Given the description of an element on the screen output the (x, y) to click on. 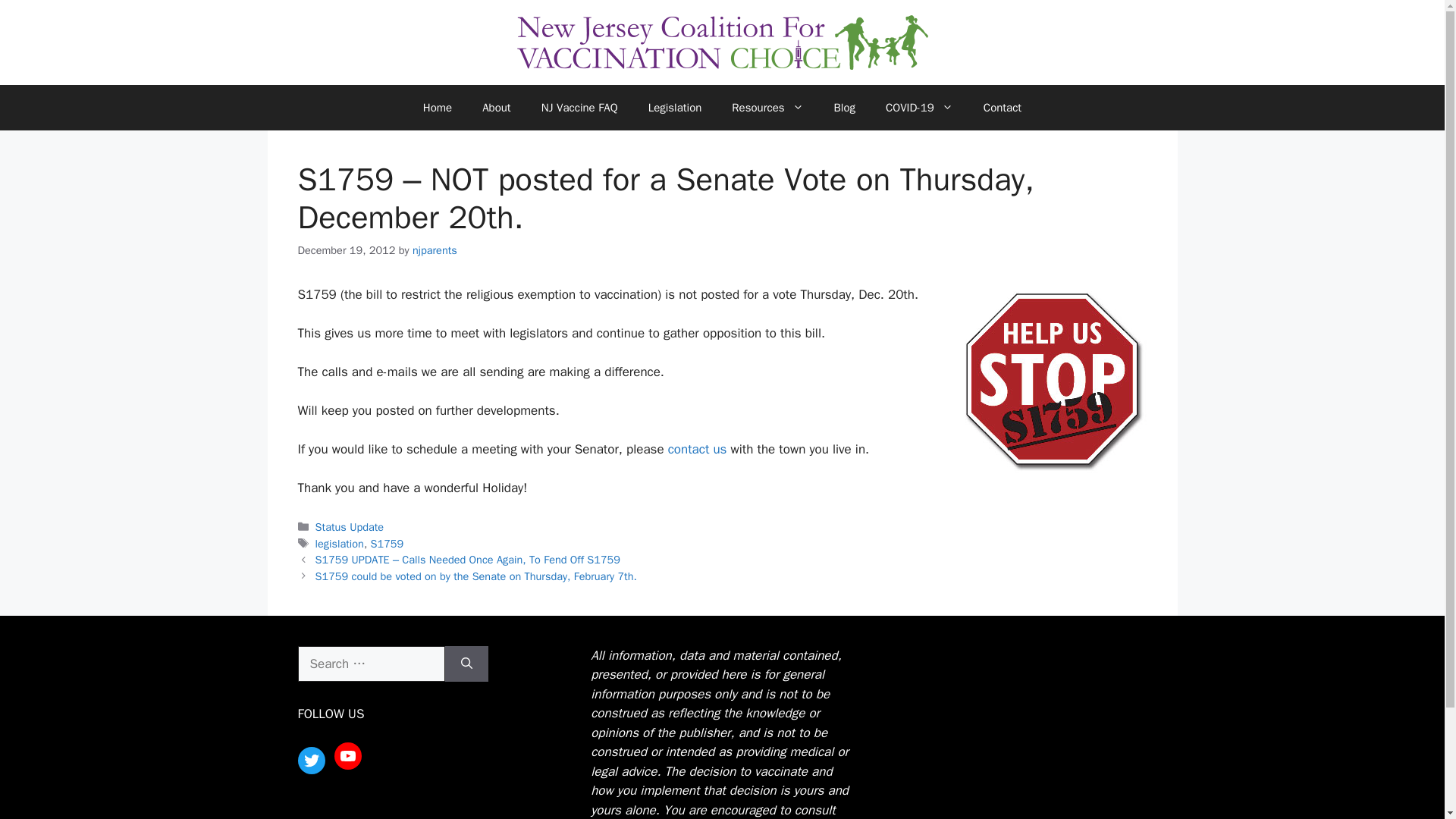
Twitter (310, 759)
Resources (767, 107)
Status Update (349, 526)
njparents (434, 250)
legislation (339, 543)
View all posts by njparents (434, 250)
contact us (697, 449)
Contact (1002, 107)
NJ Vaccine FAQ (579, 107)
